Given the description of an element on the screen output the (x, y) to click on. 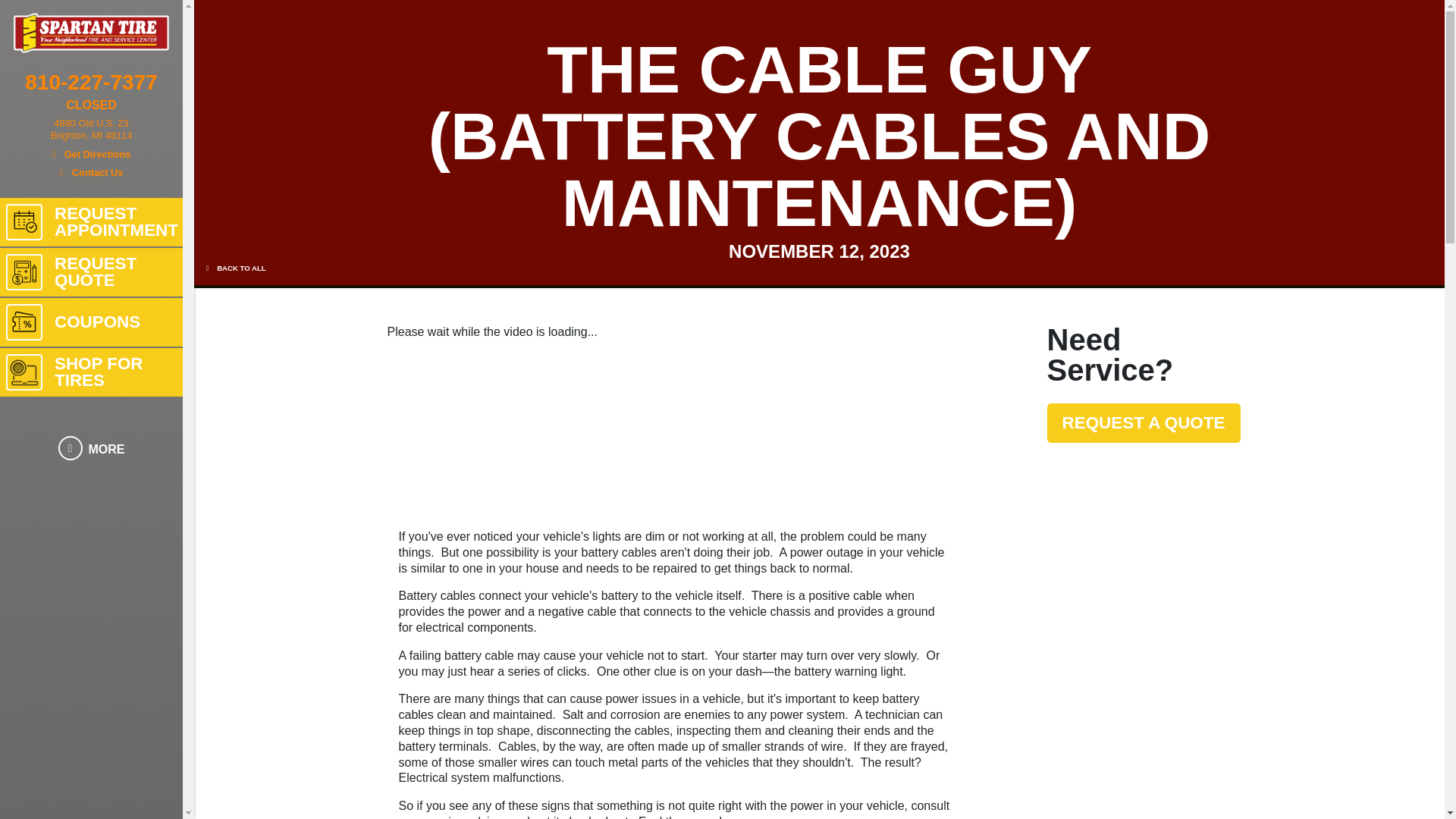
810-227-7377 (90, 85)
SHOP FOR TIRES (91, 372)
COUPONS (91, 322)
REQUEST APPOINTMENT (90, 139)
CLOSED (91, 222)
REQUEST QUOTE (90, 105)
Contact Us (91, 272)
